Given the description of an element on the screen output the (x, y) to click on. 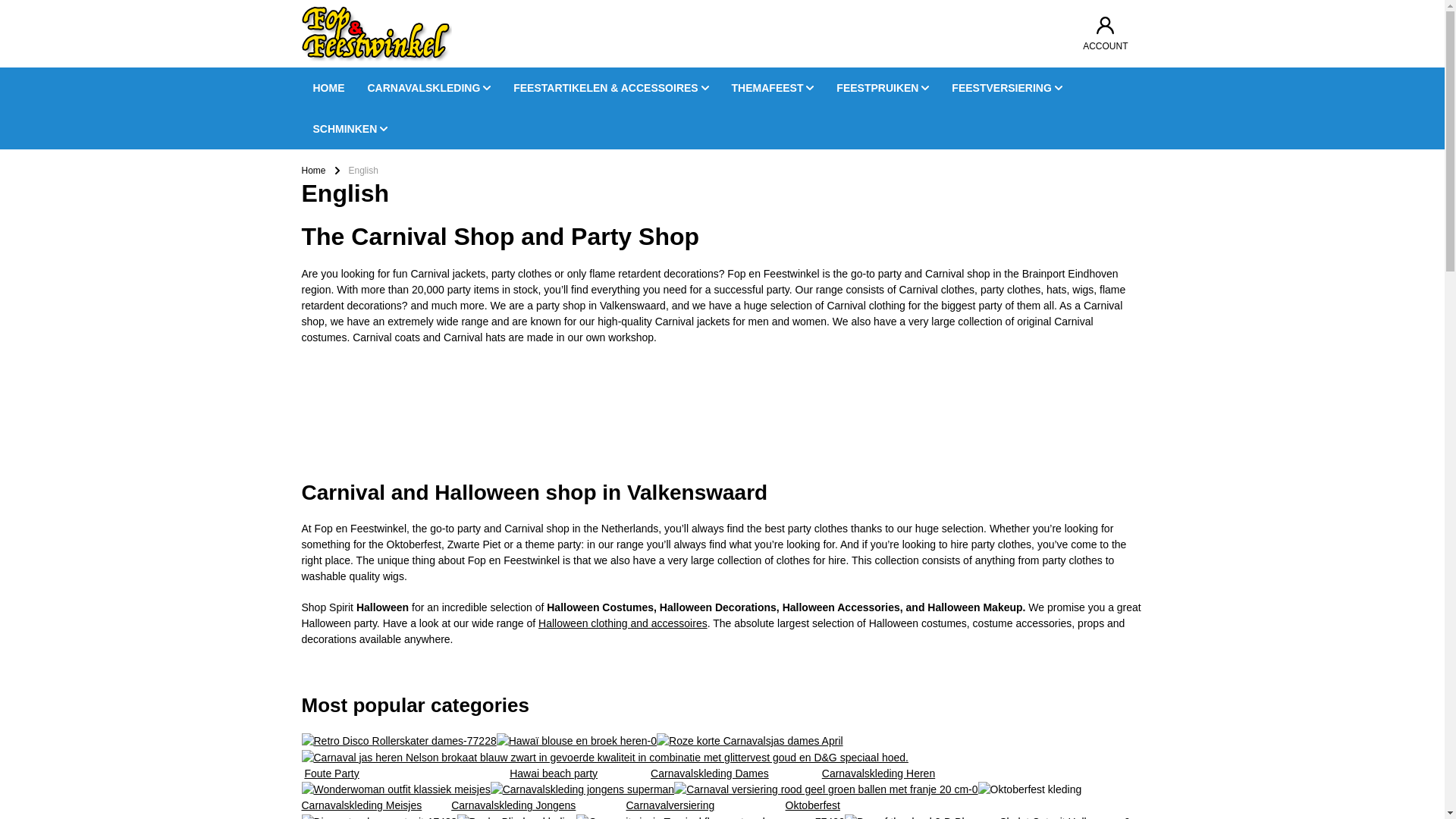
Fop en Feestwinkel zomer 2022 (415, 418)
